Given the description of an element on the screen output the (x, y) to click on. 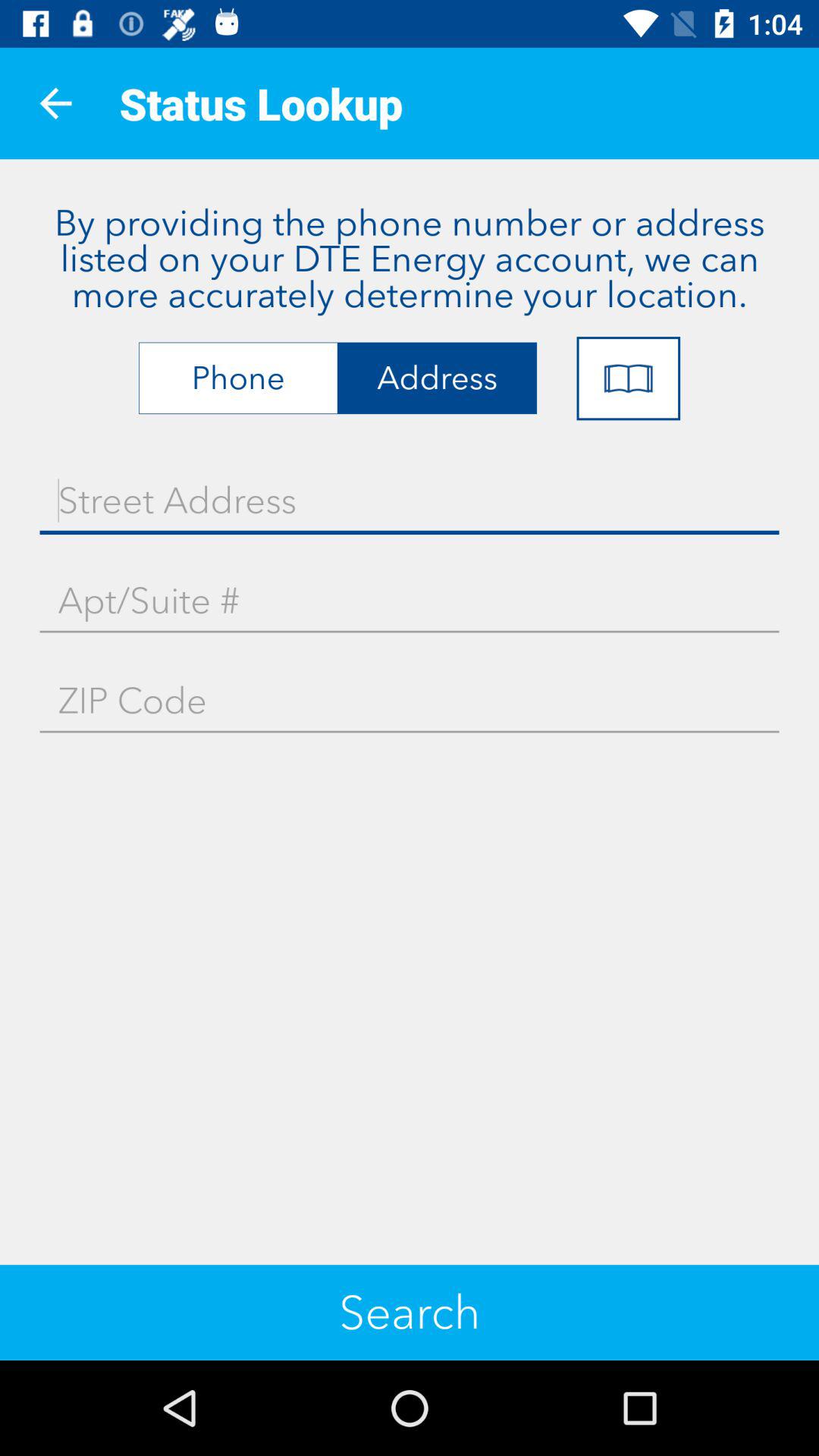
launch the icon above the by providing the (55, 103)
